Given the description of an element on the screen output the (x, y) to click on. 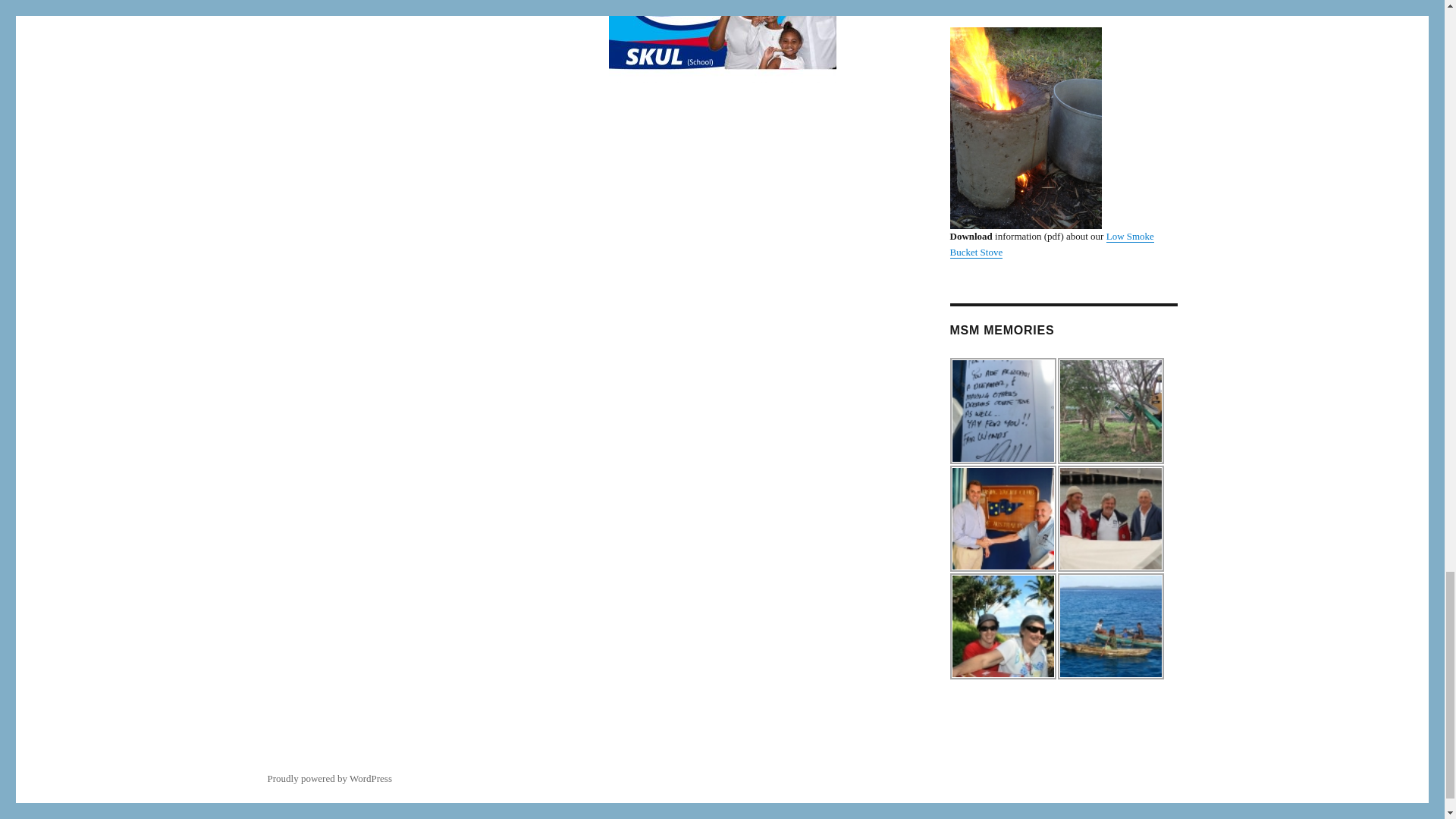
three-sea-salts-terrence-kevin-and-tony (1110, 518)
2017 TC Pam (1110, 410)
cyca-ceo-mark-woolf-wishing-bob-brenac-bon-voyage (1002, 518)
